Given the description of an element on the screen output the (x, y) to click on. 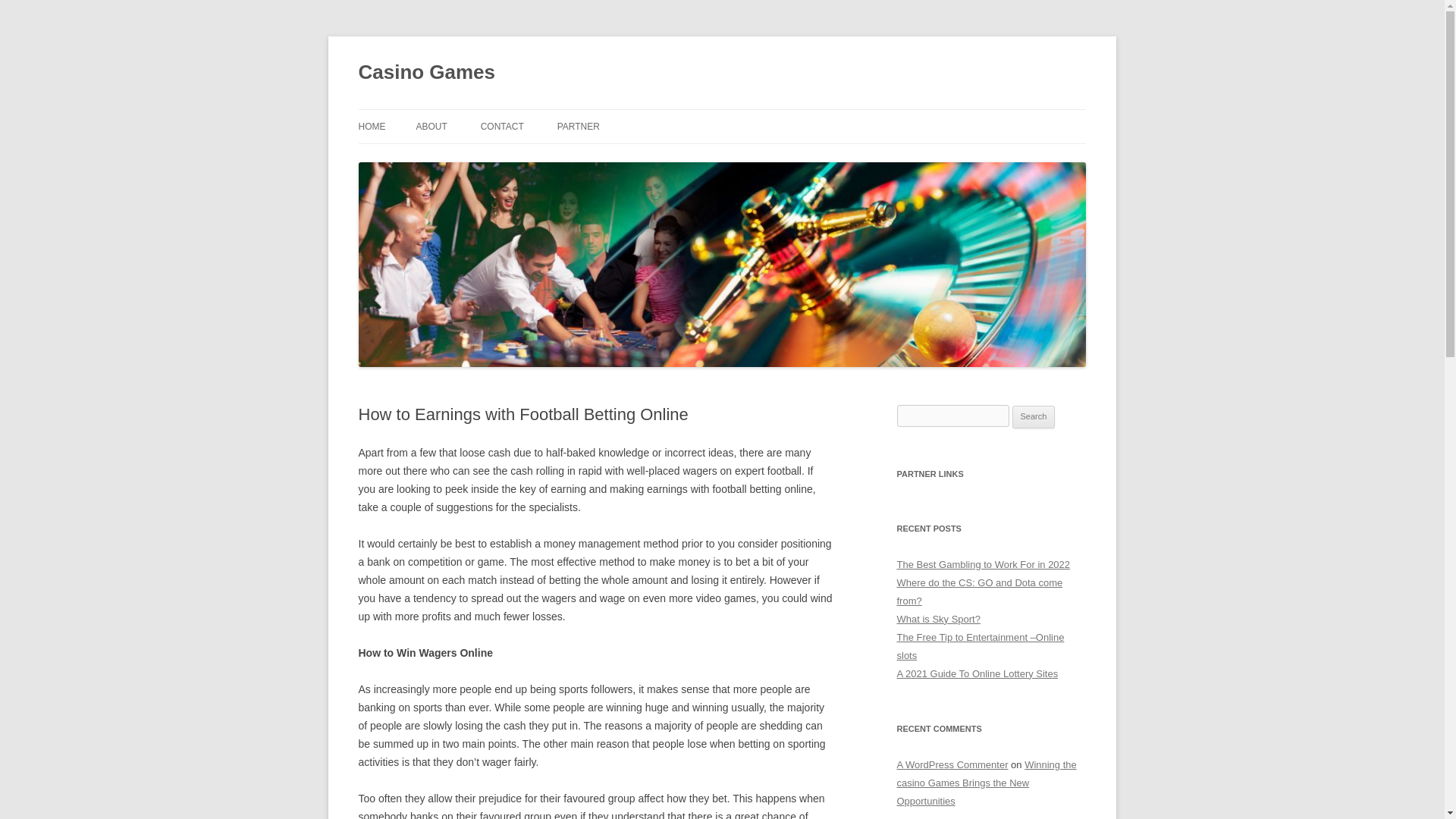
Where do the CS: GO and Dota come from? (979, 591)
CONTACT (502, 126)
Search (1033, 416)
A 2021 Guide To Online Lottery Sites (977, 673)
What is Sky Sport? (937, 618)
Casino Games (426, 72)
PARTNER (578, 126)
A WordPress Commenter (951, 764)
The Best Gambling to Work For in 2022 (983, 564)
